Given the description of an element on the screen output the (x, y) to click on. 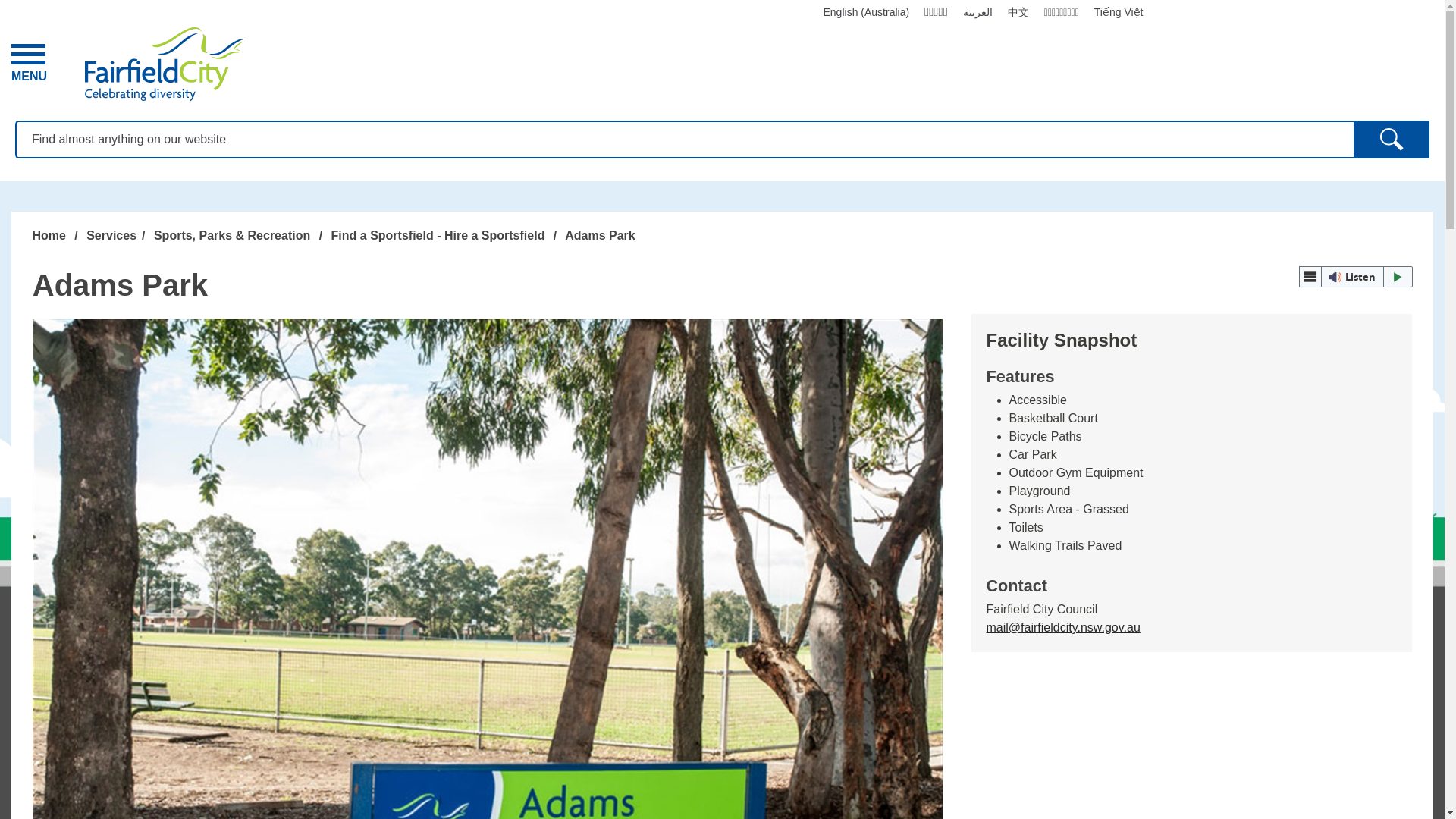
webReader menu (1310, 276)
Search (1391, 139)
Fairfield City Council - Home - Logo (164, 64)
Adams Park (28, 63)
Listen to this page using ReadSpeaker (1391, 139)
Search (1355, 276)
